Given the description of an element on the screen output the (x, y) to click on. 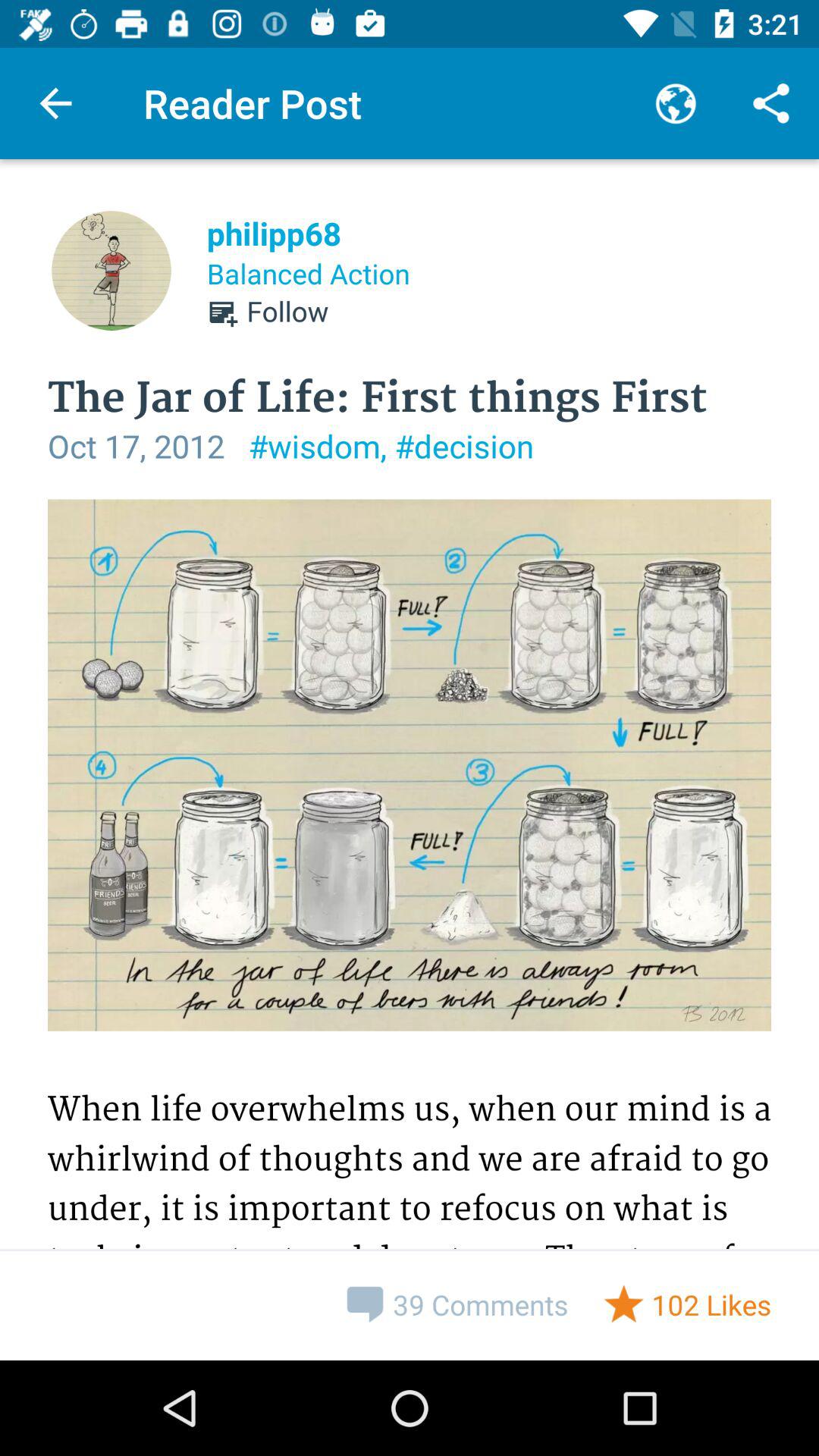
change profile photo (111, 270)
